Given the description of an element on the screen output the (x, y) to click on. 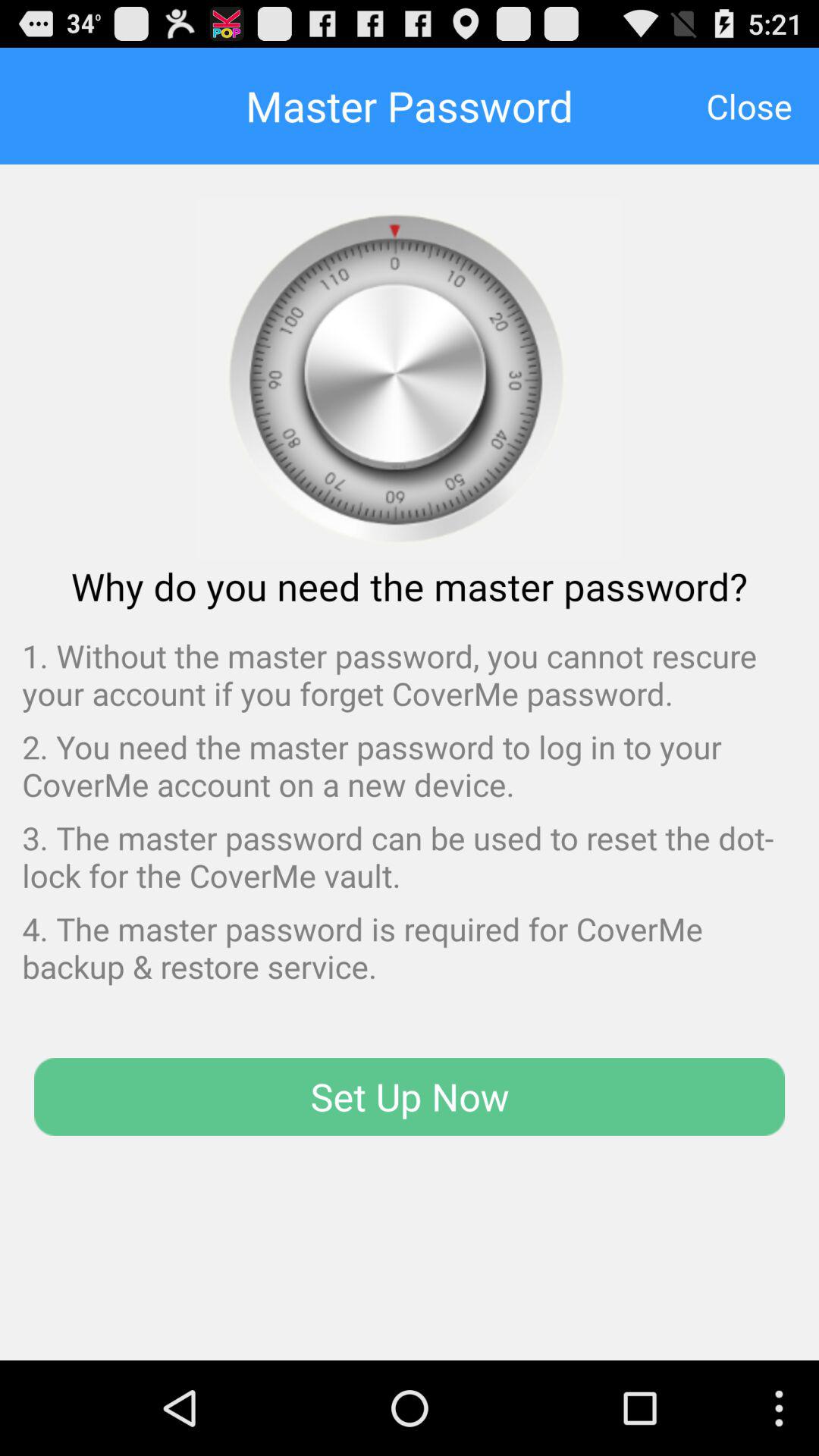
choose icon to the right of master password (749, 106)
